Given the description of an element on the screen output the (x, y) to click on. 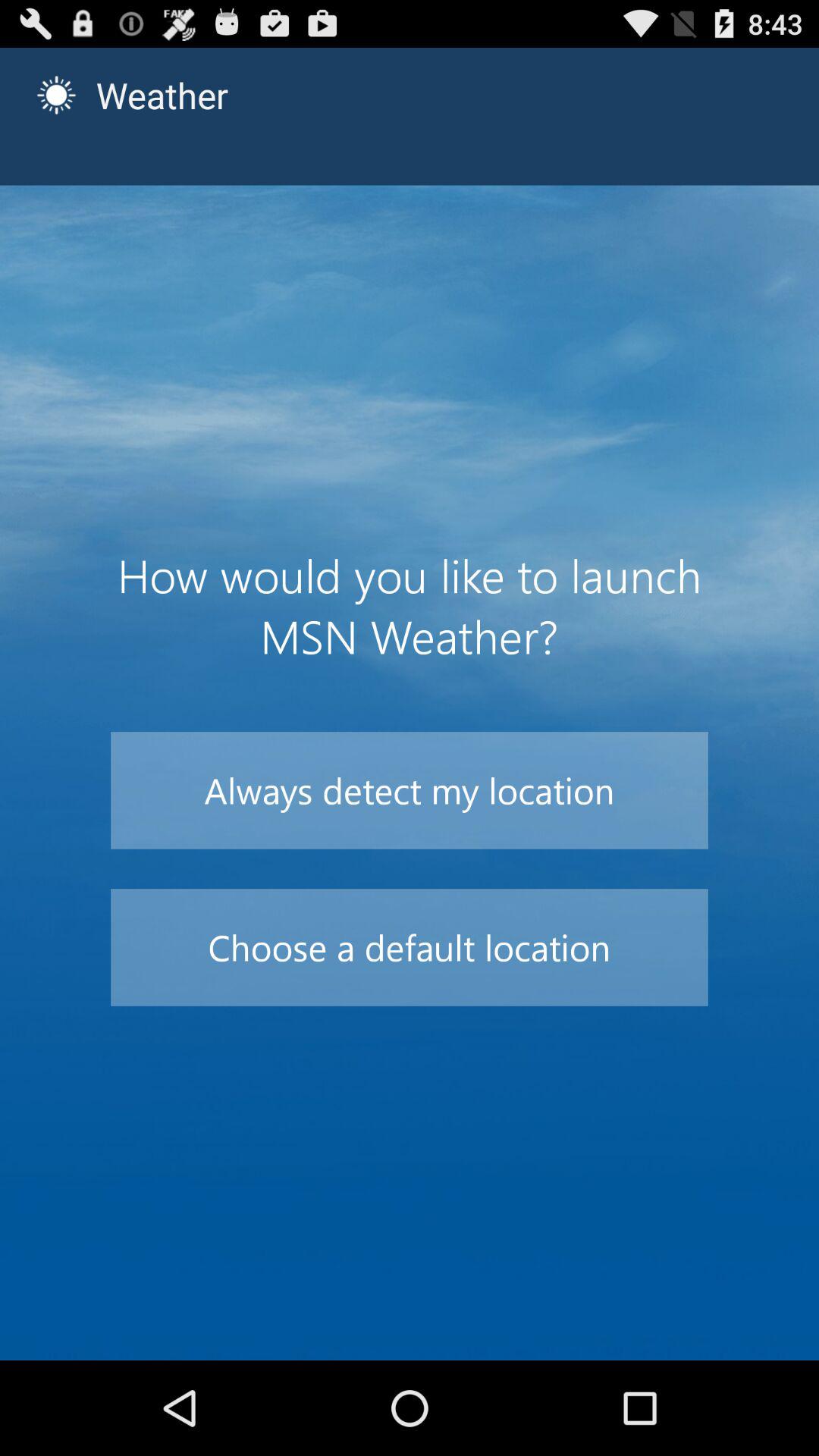
click the item below the how would you (409, 790)
